Given the description of an element on the screen output the (x, y) to click on. 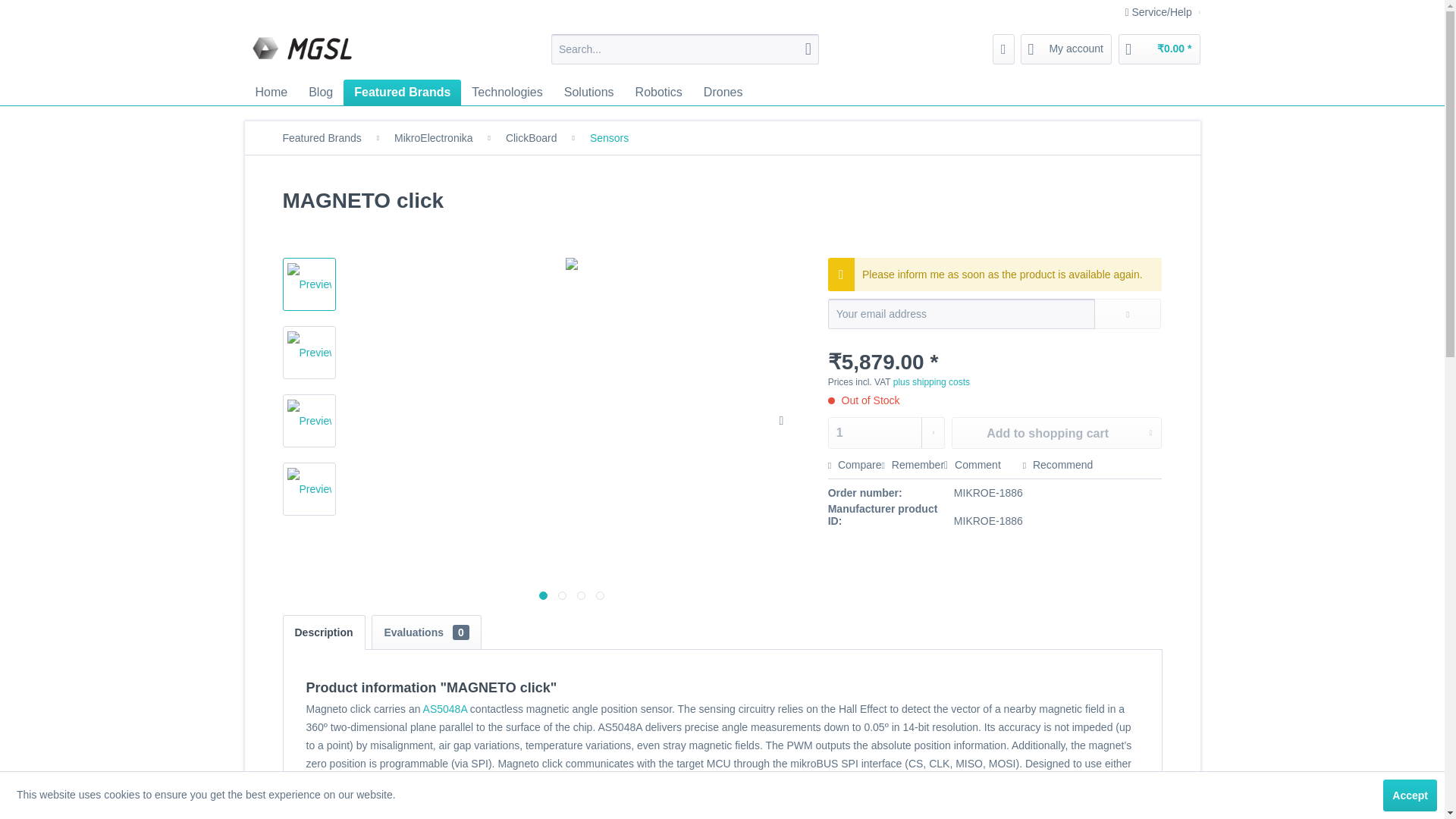
Home (271, 92)
Featured Brands (402, 92)
My account (1066, 49)
Technologies (507, 92)
Technologies (507, 92)
MG Super Labs - Switch to homepage (303, 53)
Blog (320, 92)
Solutions (588, 92)
Solutions (588, 92)
Shopping cart (1158, 49)
Blog (320, 92)
Robotics (658, 92)
Drones (723, 92)
Featured Brands (402, 92)
My account (1066, 49)
